Given the description of an element on the screen output the (x, y) to click on. 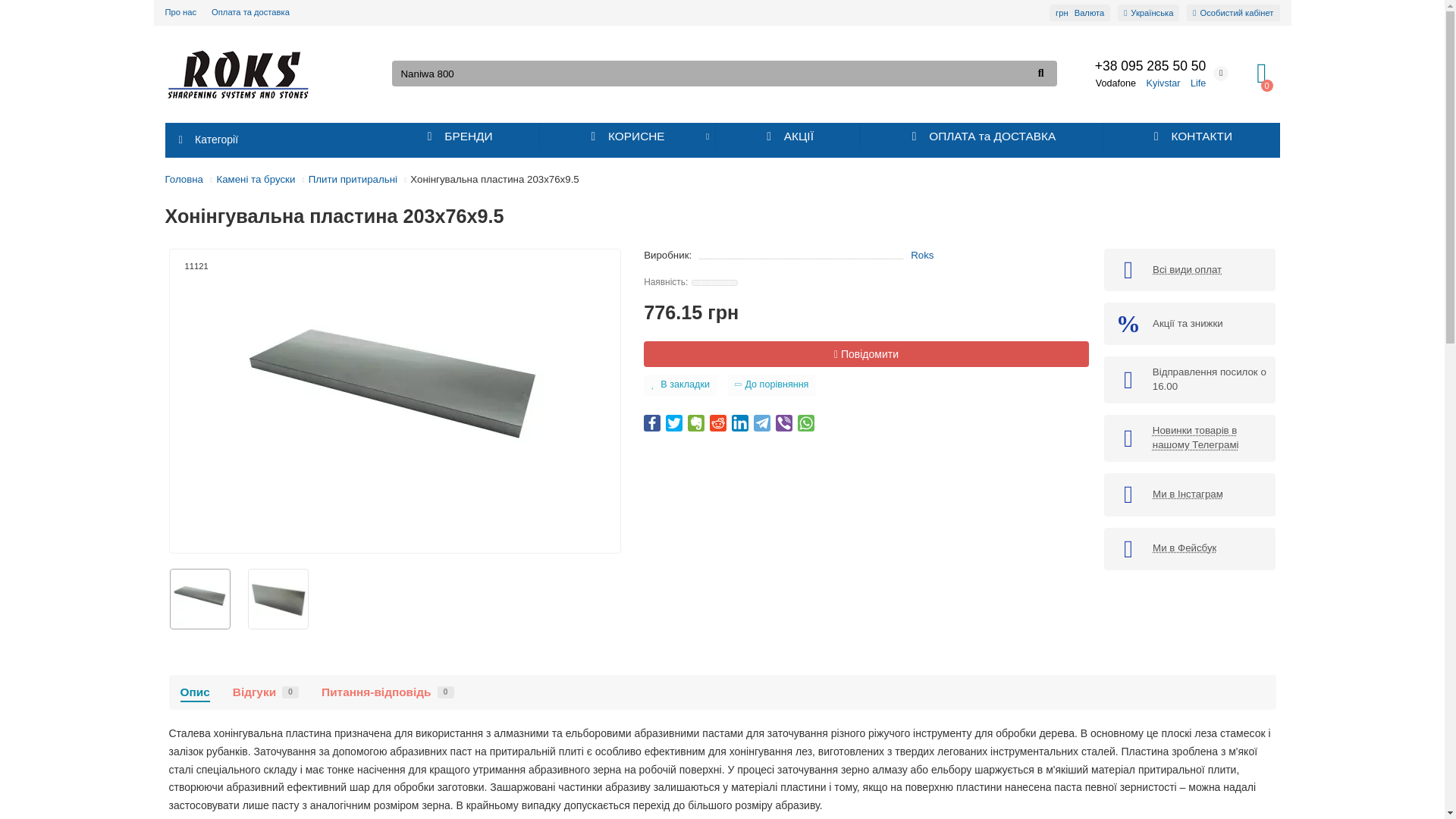
Vodafone (1149, 65)
